Given the description of an element on the screen output the (x, y) to click on. 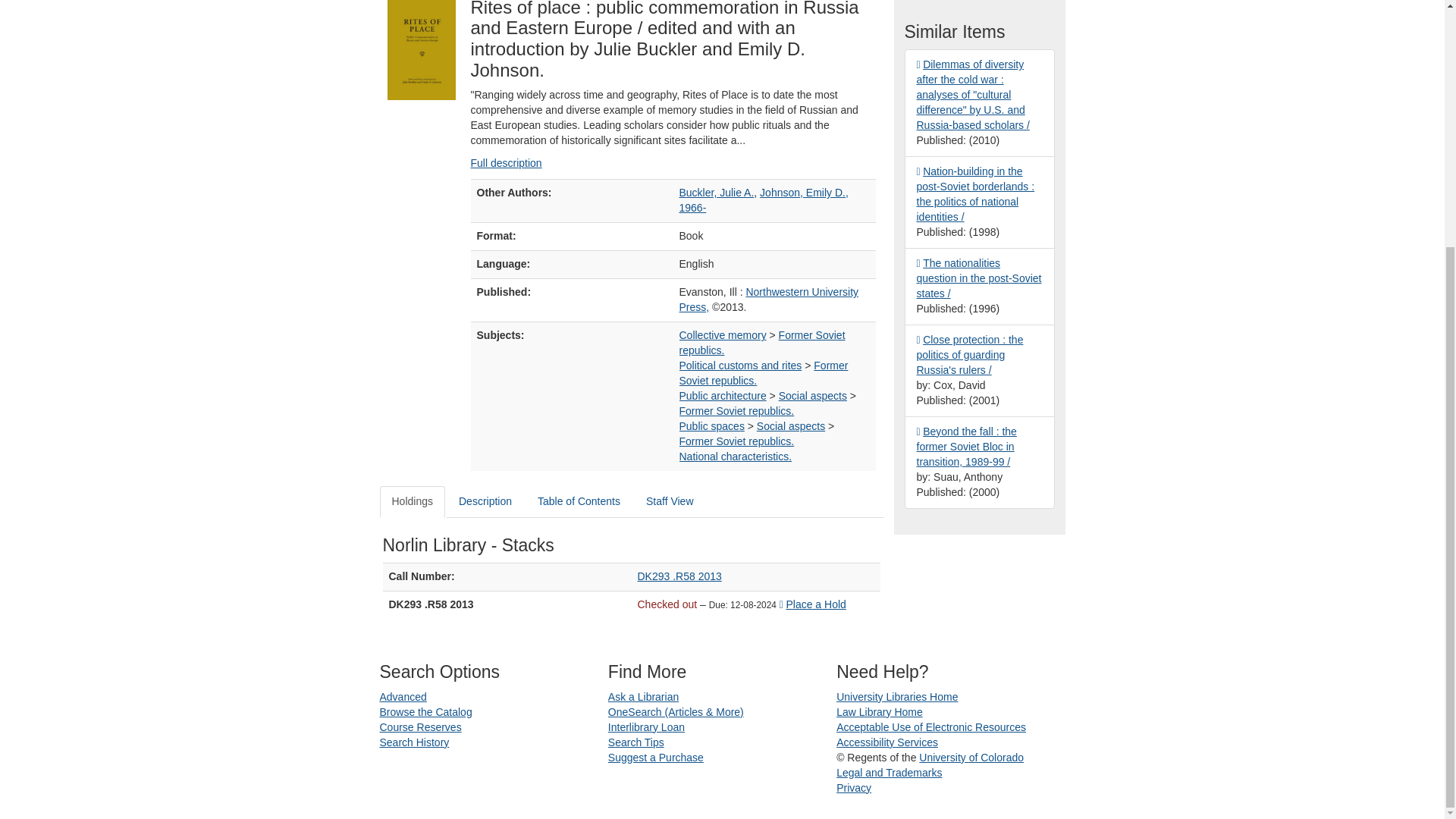
Political customs and rites (740, 365)
Social aspects (812, 395)
Former Soviet republics. (763, 372)
Public architecture Social aspects (812, 395)
Former Soviet republics. (736, 440)
Public architecture Social aspects Former Soviet republics. (736, 410)
Buckler, Julie A. (716, 192)
Holdings (411, 501)
Collective memory (723, 335)
Johnson, Emily D., 1966- (763, 199)
